Given the description of an element on the screen output the (x, y) to click on. 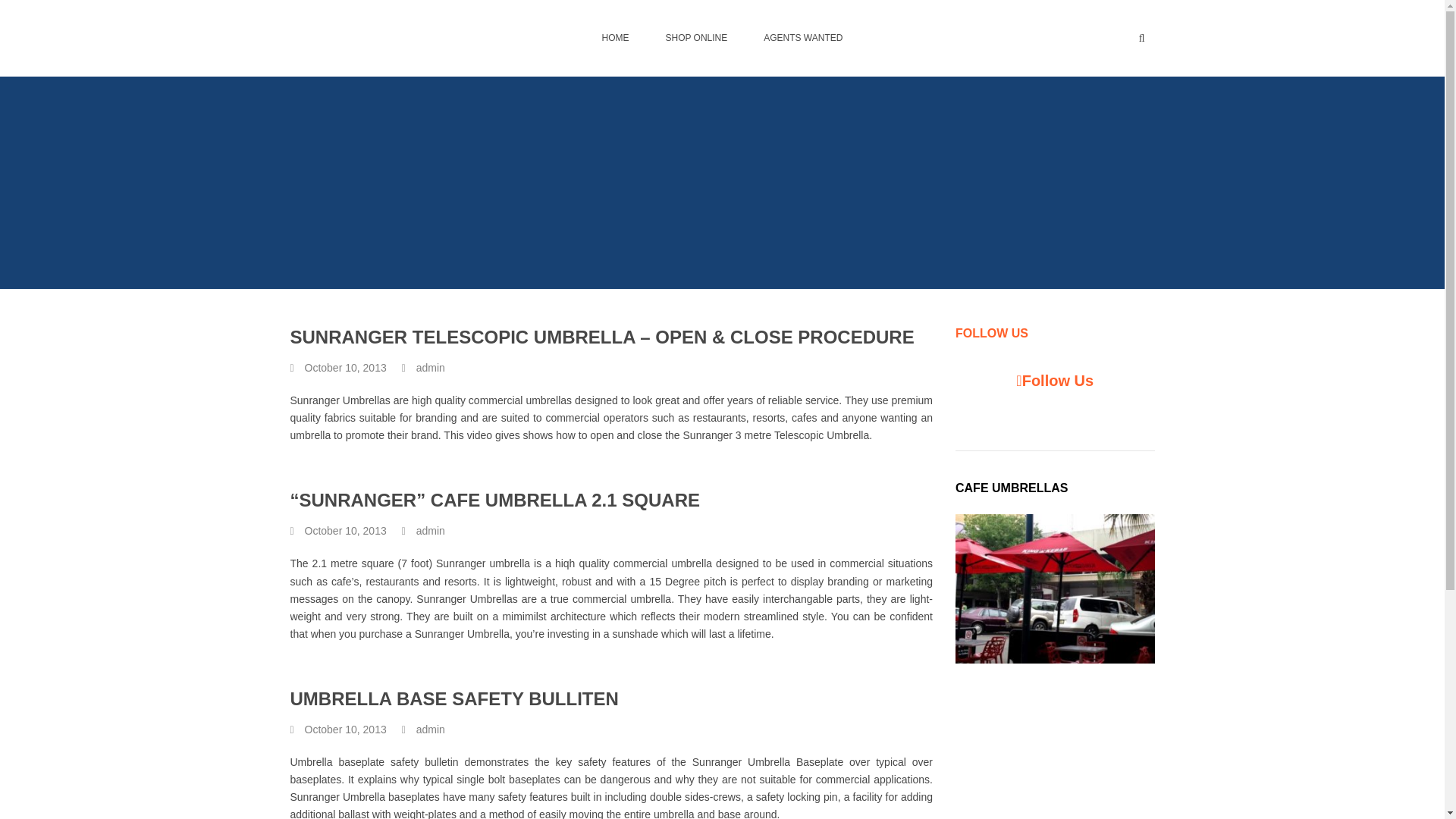
AGENTS WANTED (802, 38)
October 10, 2013 (345, 367)
admin (430, 530)
UMBRELLA BASE SAFETY BULLITEN (453, 698)
admin (430, 367)
Follow Us (1057, 380)
FOLLOW US (991, 332)
October 10, 2013 (345, 530)
October 10, 2013 (345, 729)
admin (430, 729)
SHOP ONLINE (695, 38)
